Given the description of an element on the screen output the (x, y) to click on. 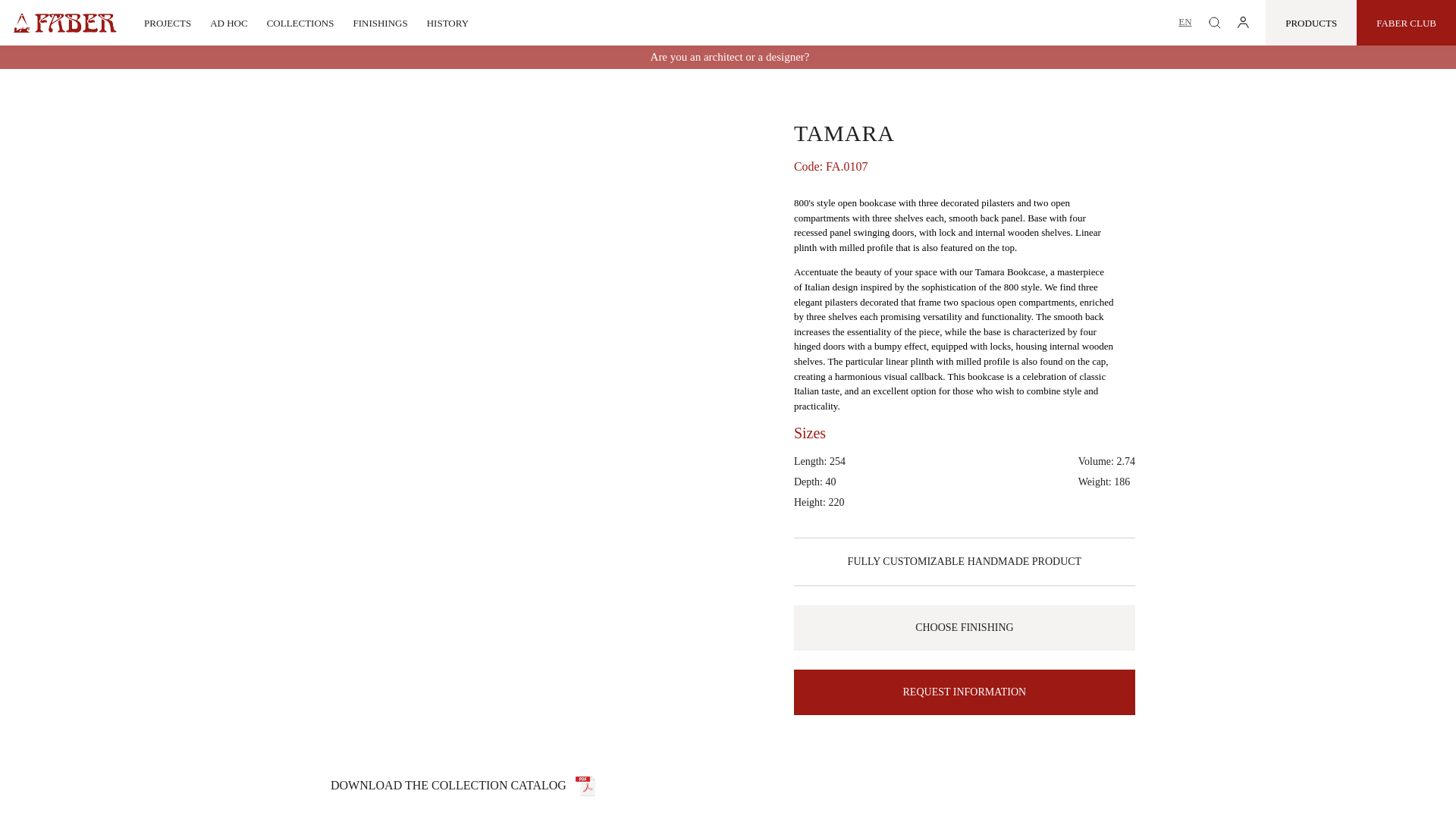
COLLECTIONS (300, 22)
REQUEST INFORMATION (964, 691)
DOWNLOAD THE COLLECTION CATALOG (463, 785)
PROJECTS (167, 22)
PRODUCTS (1310, 22)
HISTORY (447, 22)
FINISHINGS (379, 22)
CHOOSE FINISHING (964, 627)
